Given the description of an element on the screen output the (x, y) to click on. 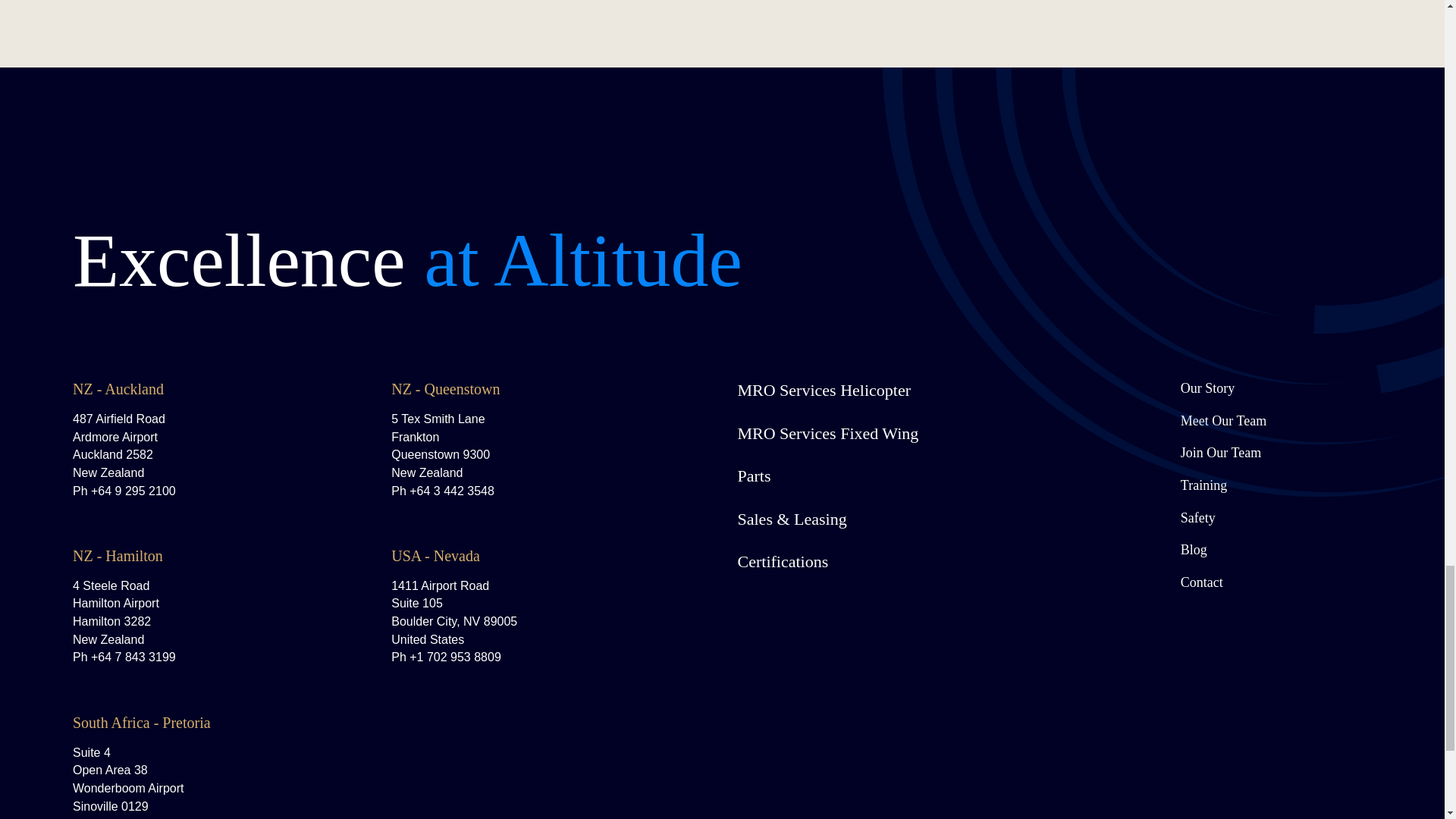
Contact (1275, 582)
Our Story (1275, 388)
Parts (887, 476)
Meet Our Team (1275, 421)
MRO Services Fixed Wing (887, 433)
Certifications (887, 561)
Training (1275, 485)
Blog (1275, 549)
Join Our Team (1275, 453)
MRO Services Helicopter (887, 390)
Safety (1275, 517)
